Given the description of an element on the screen output the (x, y) to click on. 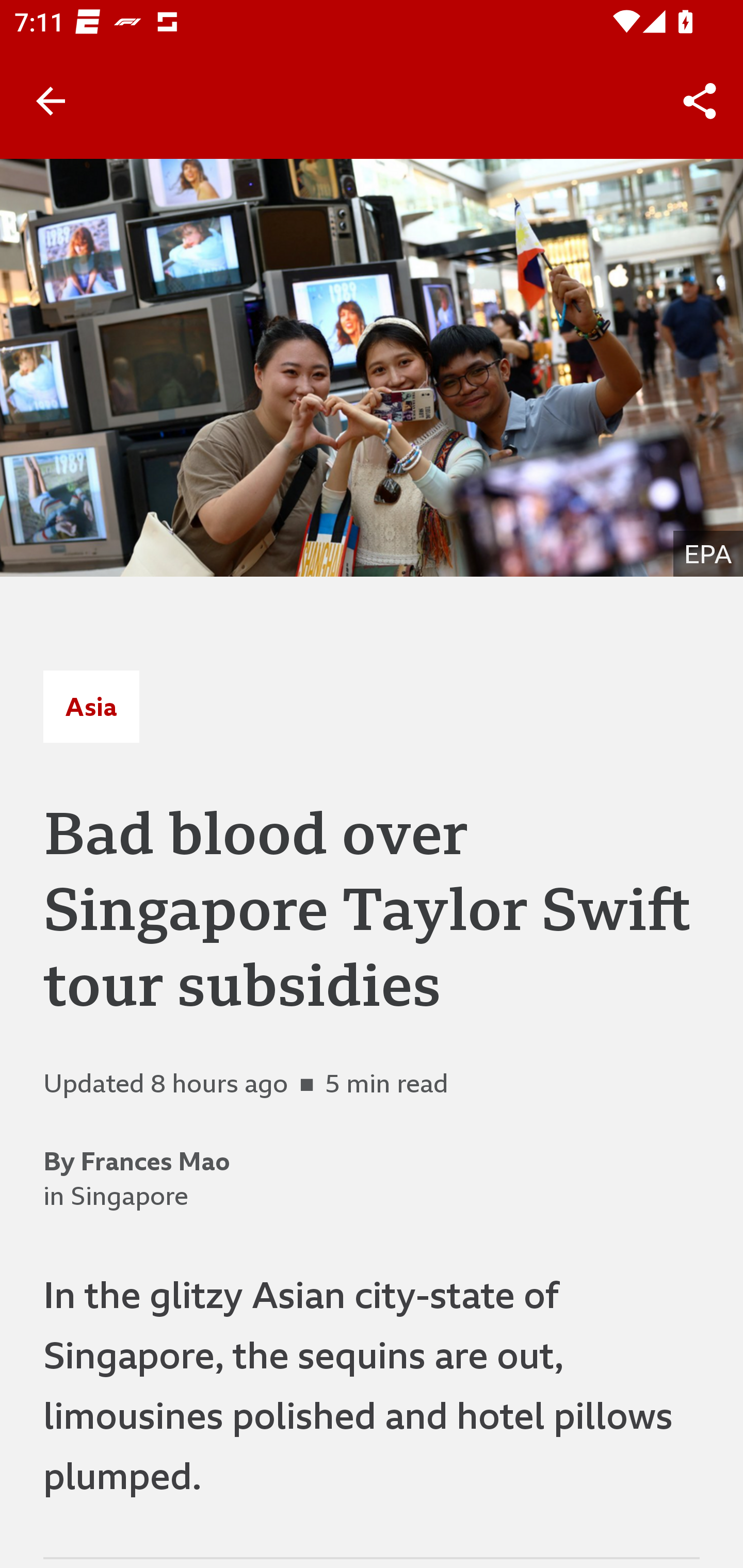
Back (50, 101)
Share (699, 101)
Asia (91, 706)
